Given the description of an element on the screen output the (x, y) to click on. 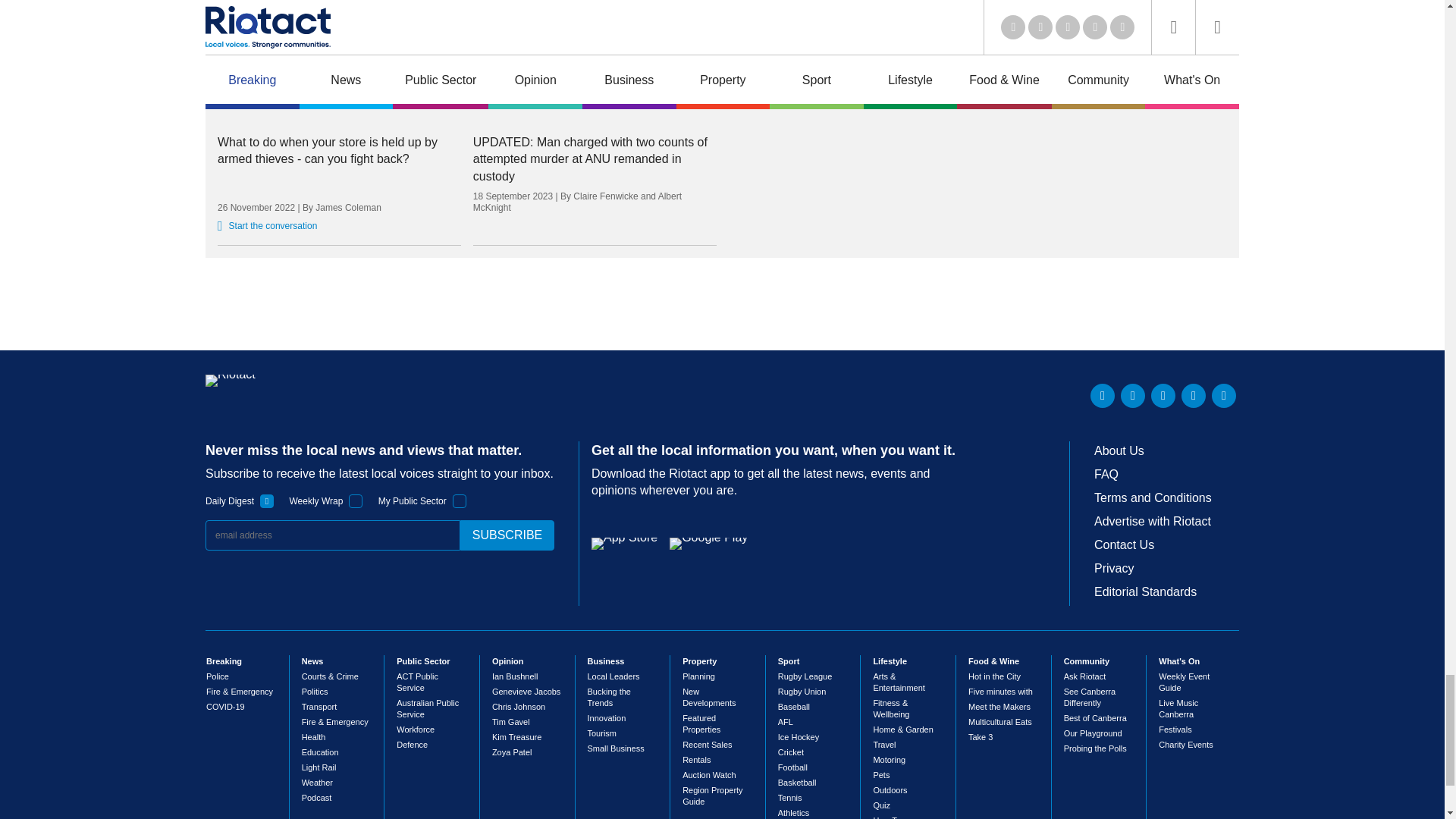
1 (266, 500)
1 (458, 500)
1 (355, 500)
subscribe (507, 535)
